Given the description of an element on the screen output the (x, y) to click on. 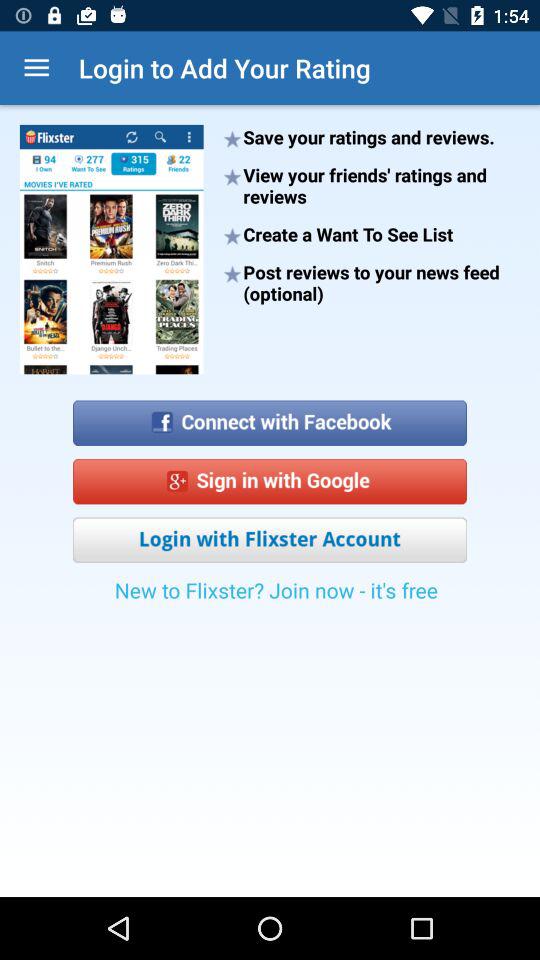
sign in button for google (270, 481)
